Given the description of an element on the screen output the (x, y) to click on. 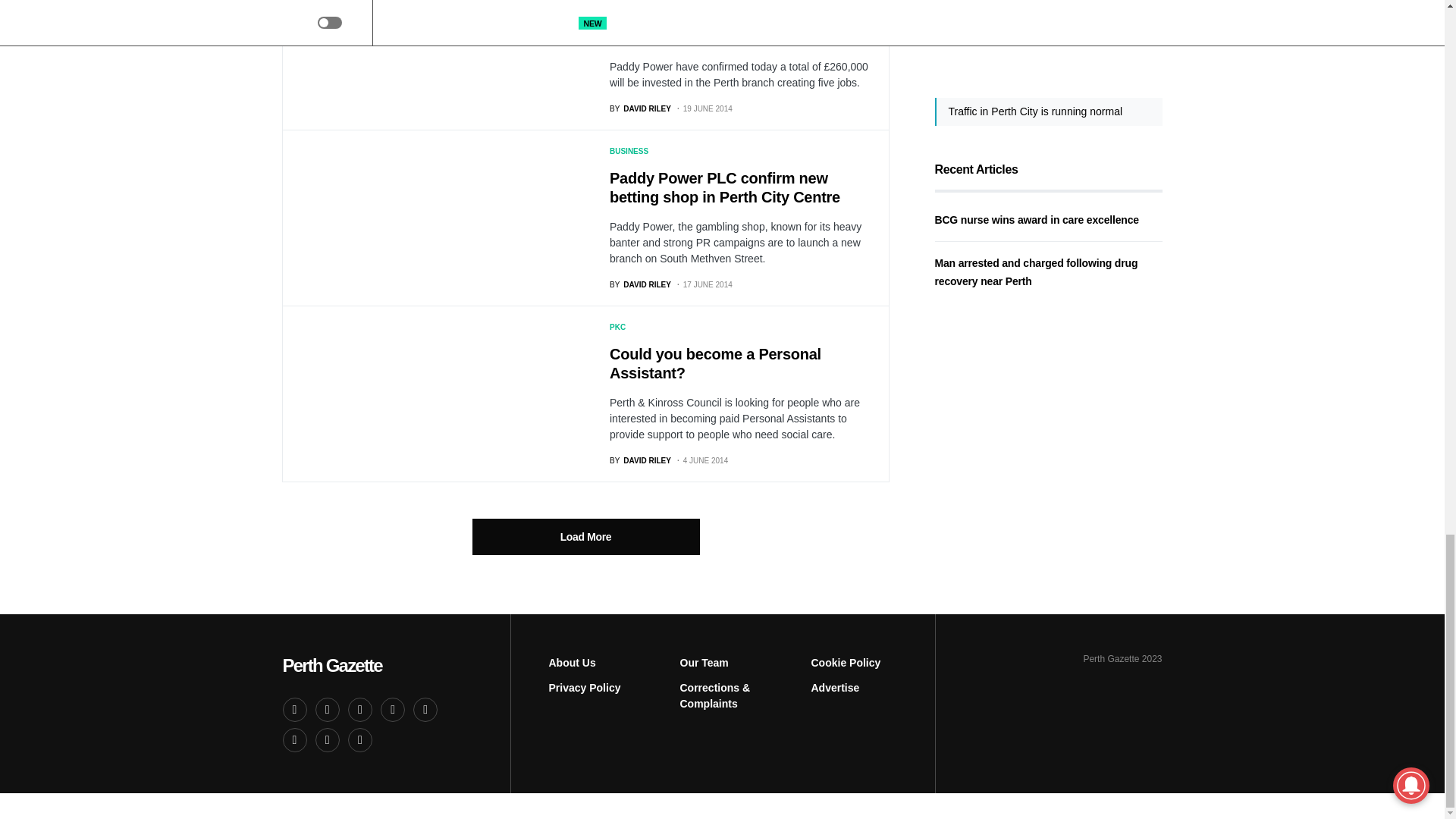
View all posts by David Riley (640, 460)
View all posts by David Riley (640, 108)
View all posts by David Riley (640, 284)
